Given the description of an element on the screen output the (x, y) to click on. 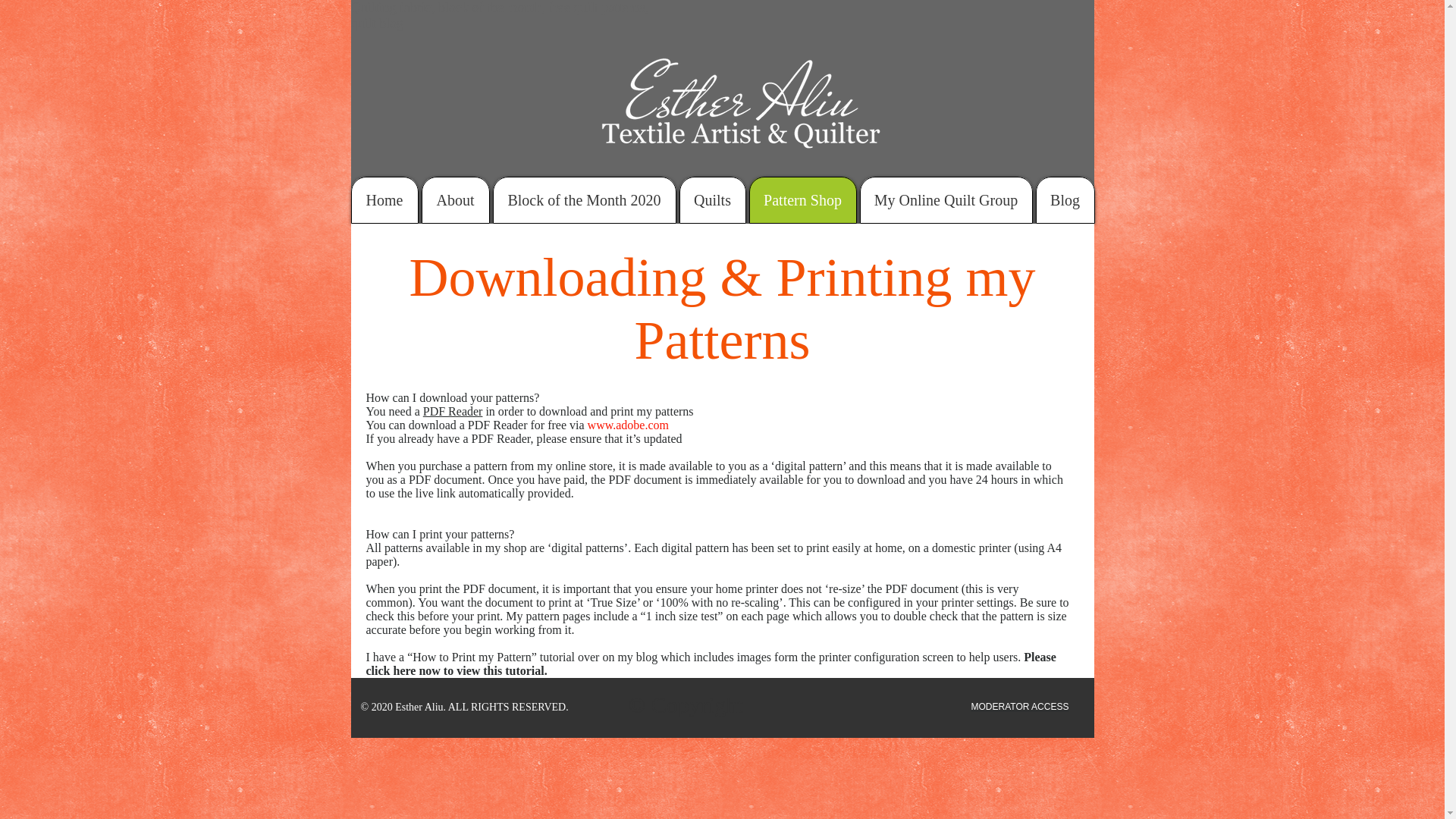
www.adobe.com (628, 424)
Pattern Shop (803, 199)
My Online Quilt Group (946, 199)
Home (383, 199)
Please click here now to view this tutorial. (710, 663)
Blog (1064, 199)
Block of the Month 2020 (585, 199)
Quilts (712, 199)
About (455, 199)
MODERATOR ACCESS (1019, 706)
